Given the description of an element on the screen output the (x, y) to click on. 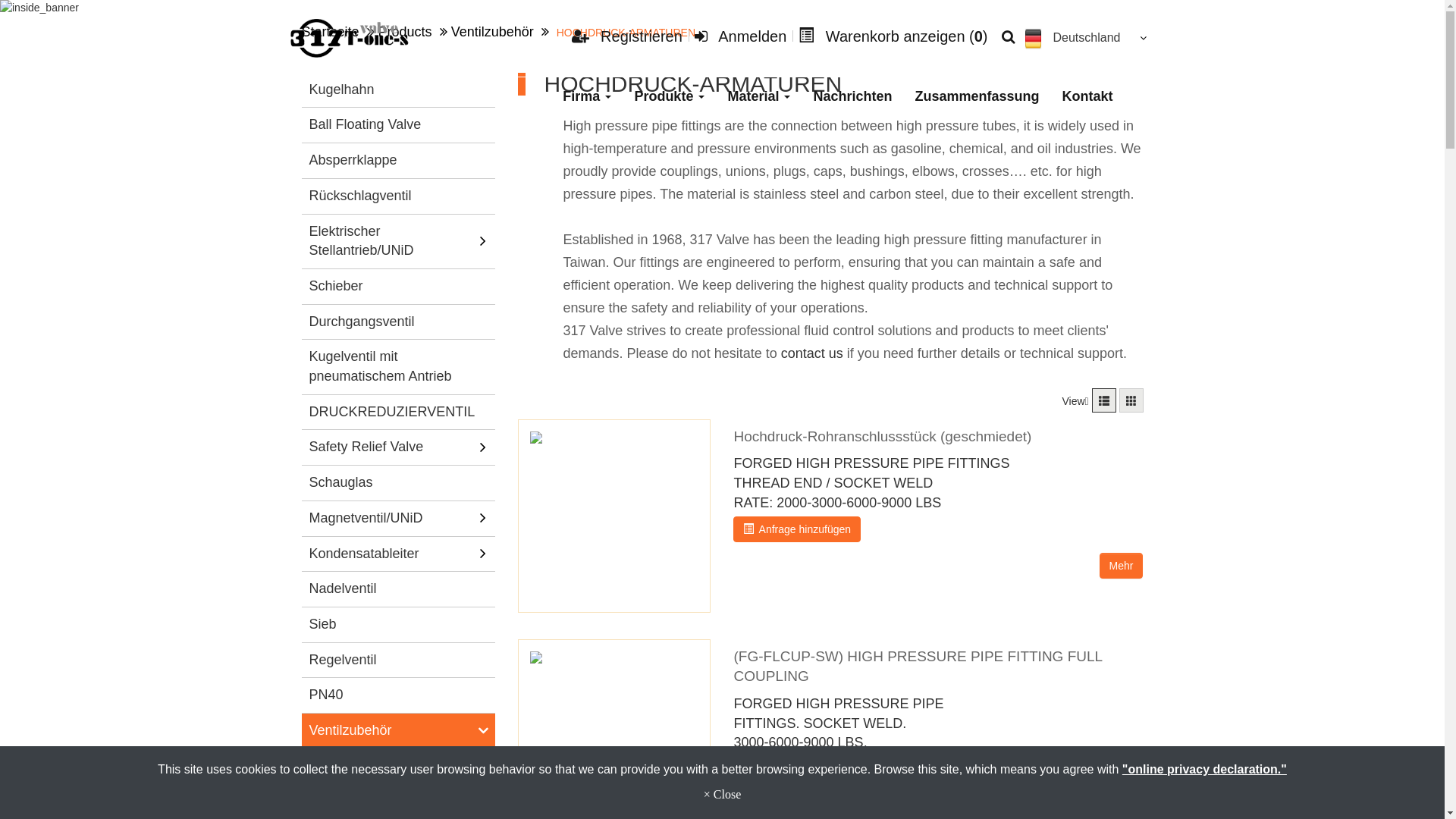
Zusammenfassung Element type: text (976, 96)
Absperrklappe Element type: text (397, 160)
Sieb Element type: text (397, 624)
Anmelden Element type: text (740, 35)
Startseite Element type: text (330, 31)
Durchgangsventil Element type: text (397, 321)
Products Element type: text (405, 31)
Produkte Element type: text (668, 96)
Registrieren Element type: text (626, 35)
Kugelhahn Element type: text (397, 89)
GUMMIKOMPENSATOR Element type: text (403, 765)
Kondensatableiter Element type: text (388, 553)
Regelventil Element type: text (397, 660)
inside_banner Element type: hover (722, 7)
Material Element type: text (758, 96)
PN40 Element type: text (397, 695)
Nadelventil Element type: text (397, 588)
DRUCKREDUZIERVENTIL Element type: text (397, 412)
Firma Element type: text (586, 96)
Schauglas Element type: text (397, 482)
Magnetventil/UNiD Element type: text (388, 518)
Mehr Element type: text (1121, 565)
"online privacy declaration." Element type: text (1204, 768)
(FG-FLCUP-SW) HIGH PRESSURE PIPE FITTING FULL COUPLING Element type: text (917, 666)
Kugelventil mit pneumatischem Antrieb Element type: text (397, 366)
Nachrichten Element type: text (852, 96)
Elektrischer Stellantrieb/UNiD Element type: text (388, 241)
METAL METALLBALGE Element type: text (403, 800)
Ball Floating Valve Element type: text (397, 124)
Safety Relief Valve Element type: text (388, 447)
Kontakt Element type: text (1087, 96)
T-ONE-S (MFG) TRADING INC. Element type: hover (349, 37)
Schieber Element type: text (397, 286)
contact us Element type: text (812, 352)
Warenkorb anzeigen (0) Element type: text (892, 35)
